Given the description of an element on the screen output the (x, y) to click on. 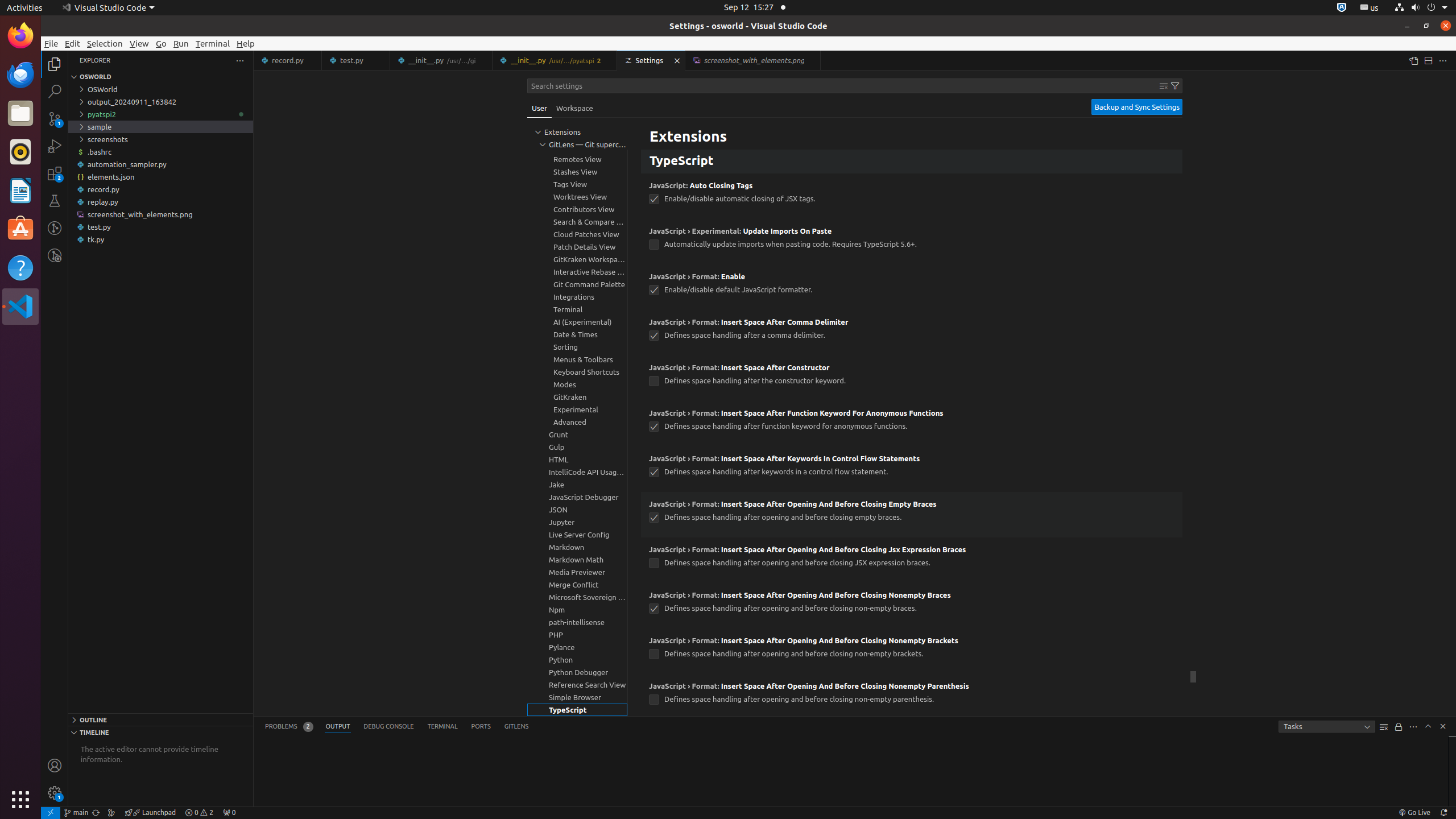
Edit Element type: push-button (72, 43)
Date & Times, group Element type: tree-item (577, 334)
JavaScript › Format Insert Space After Constructor. Defines space handling after the constructor keyword.  Element type: tree-item (911, 377)
screenshot_with_elements.png, preview Element type: page-tab (753, 60)
IntelliCode API Usage Examples, group Element type: tree-item (577, 471)
